Given the description of an element on the screen output the (x, y) to click on. 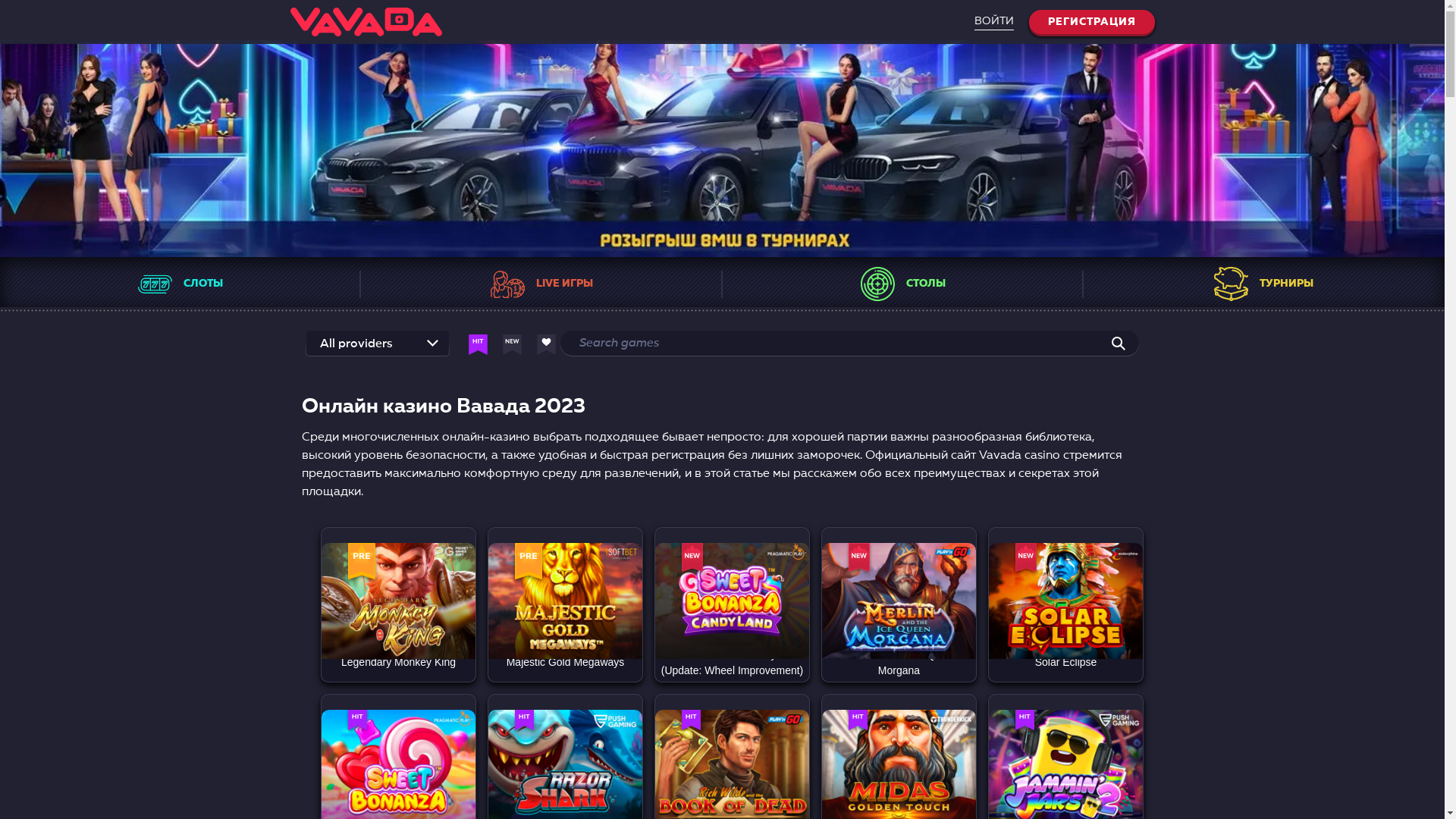
vavada com Element type: hover (722, 148)
Favorites Element type: text (1055, 616)
All providers Element type: text (356, 344)
Favorites Element type: text (721, 608)
Favorites Element type: text (554, 782)
Favorites Element type: text (888, 782)
Favorites Element type: text (387, 782)
Favorites Element type: text (387, 616)
Favorites Element type: text (888, 616)
Favorites Element type: text (1055, 782)
Favorites Element type: text (721, 782)
Favorites Element type: text (554, 616)
